Given the description of an element on the screen output the (x, y) to click on. 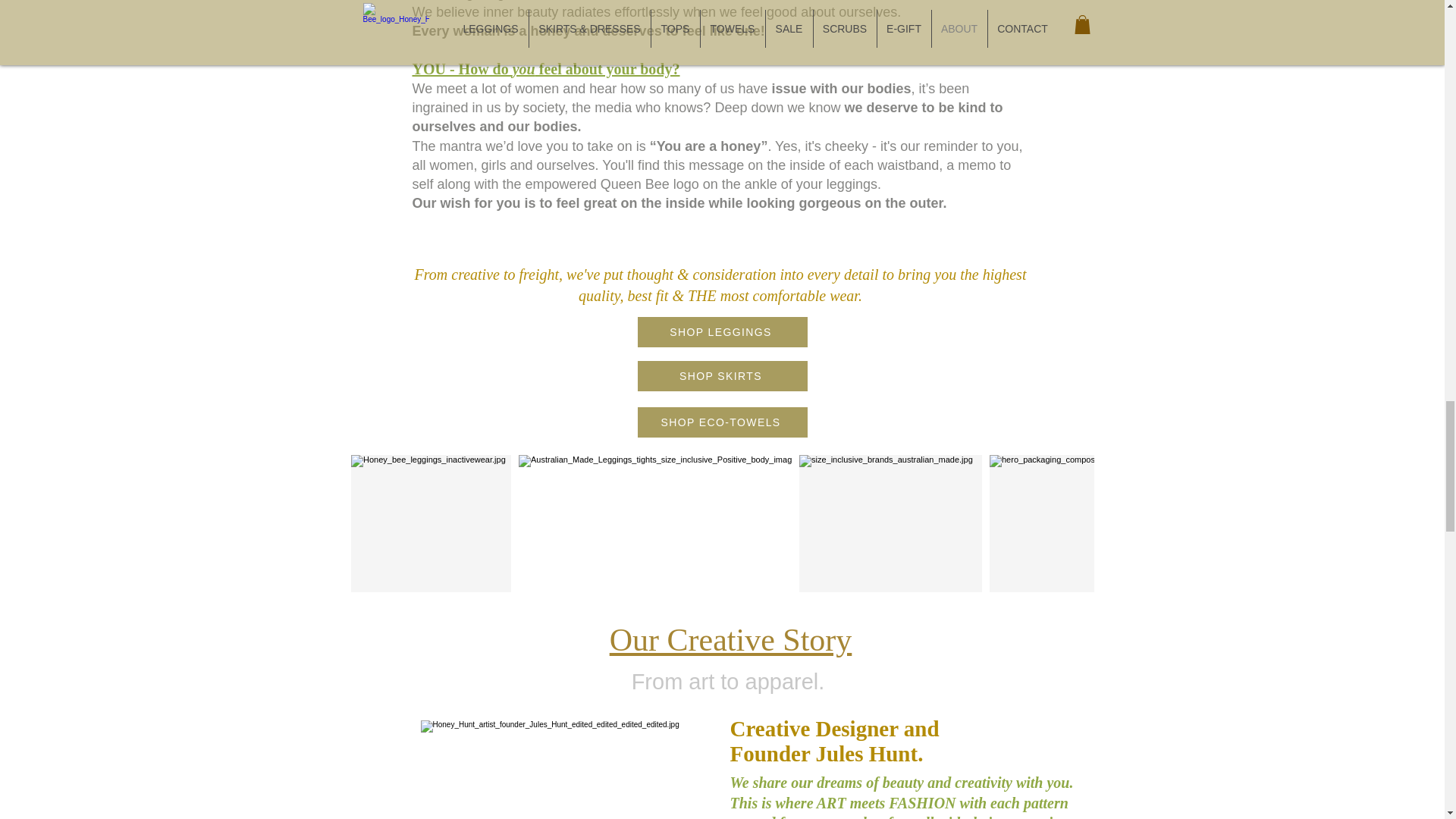
SHOP LEGGINGS (721, 331)
Our Creative Story (730, 639)
SHOP SKIRTS (721, 376)
SHOP ECO-TOWELS (721, 422)
YOU - How do you feel about your body? (545, 68)
